Given the description of an element on the screen output the (x, y) to click on. 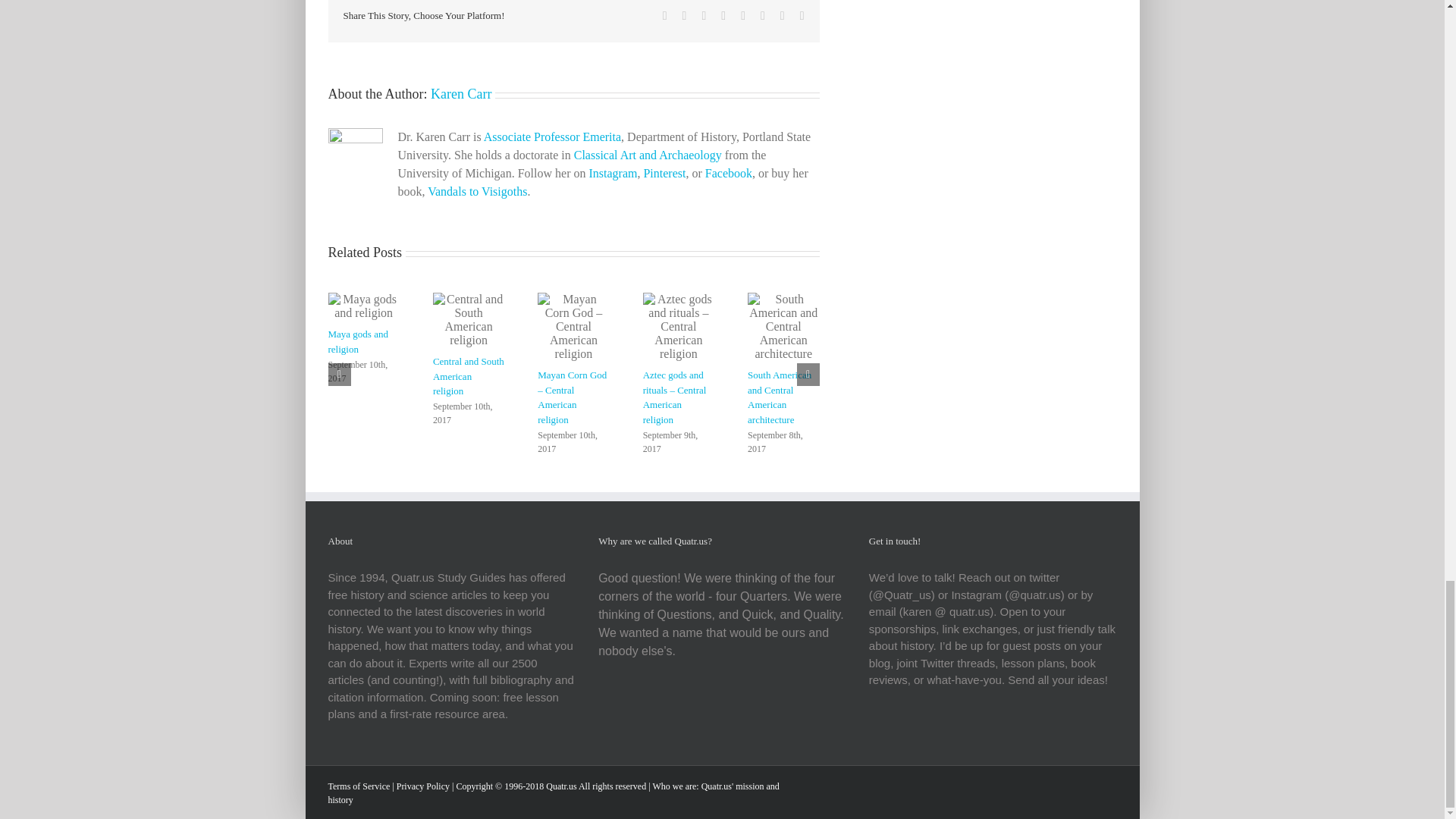
Maya gods and religion (357, 341)
Central and South American religion (467, 375)
Posts by Karen Carr (461, 93)
South American and Central American architecture (779, 397)
